Given the description of an element on the screen output the (x, y) to click on. 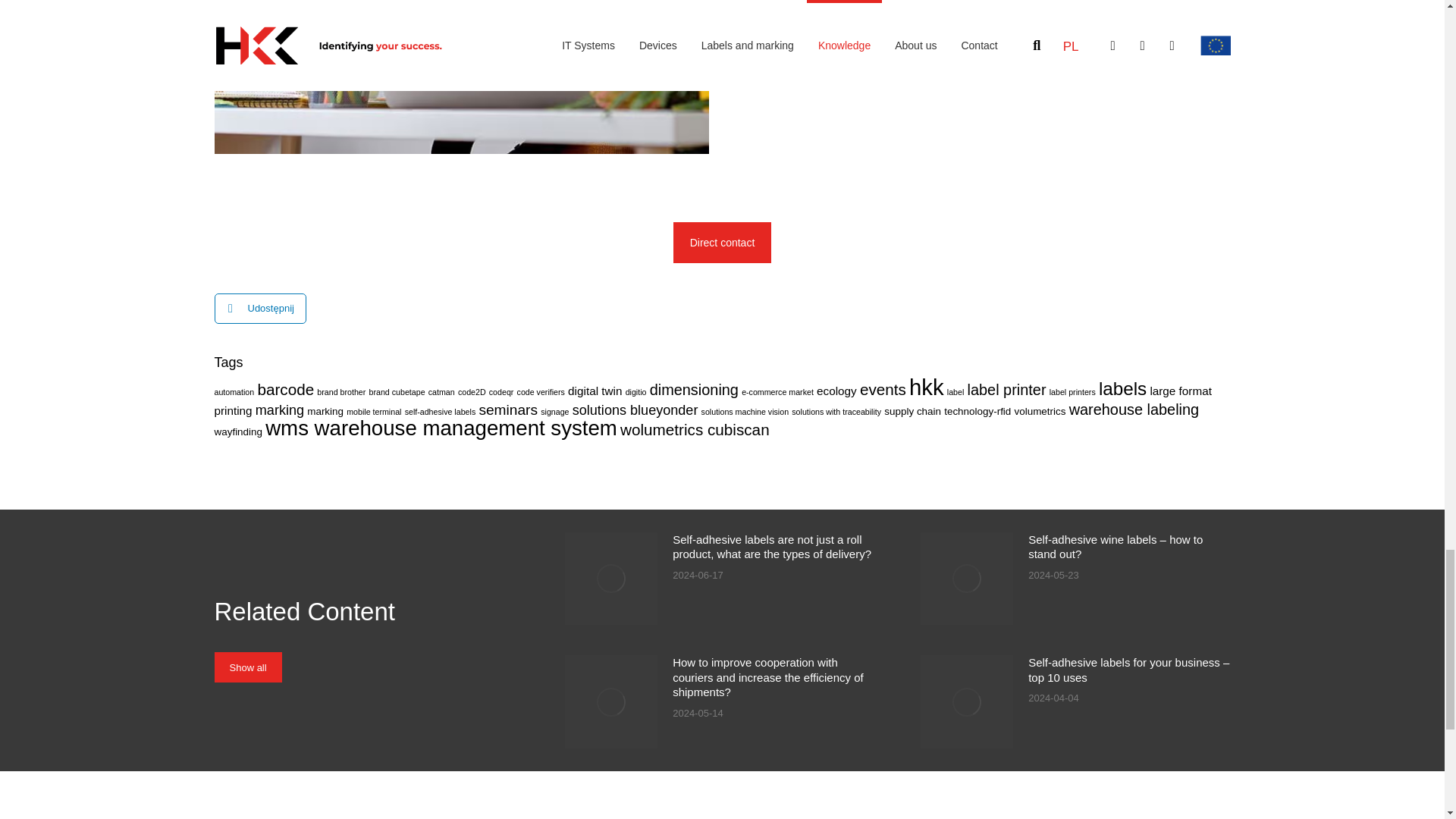
13:38 (1052, 698)
Ekologiczne projektowanie etykiet (461, 76)
12:38 (697, 713)
09:07 (697, 575)
15:11 (1052, 575)
